Given the description of an element on the screen output the (x, y) to click on. 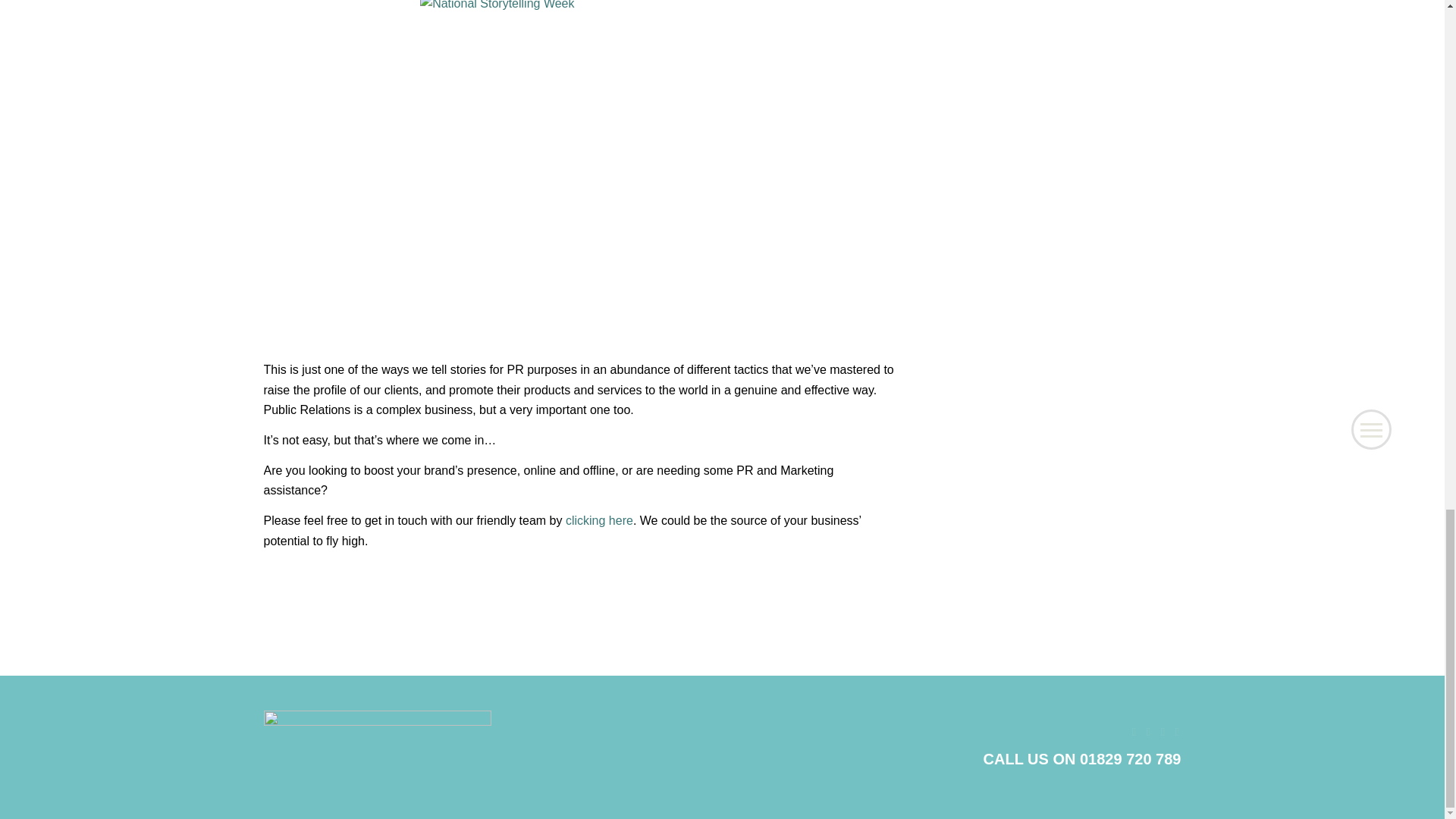
clicking here (599, 520)
